Given the description of an element on the screen output the (x, y) to click on. 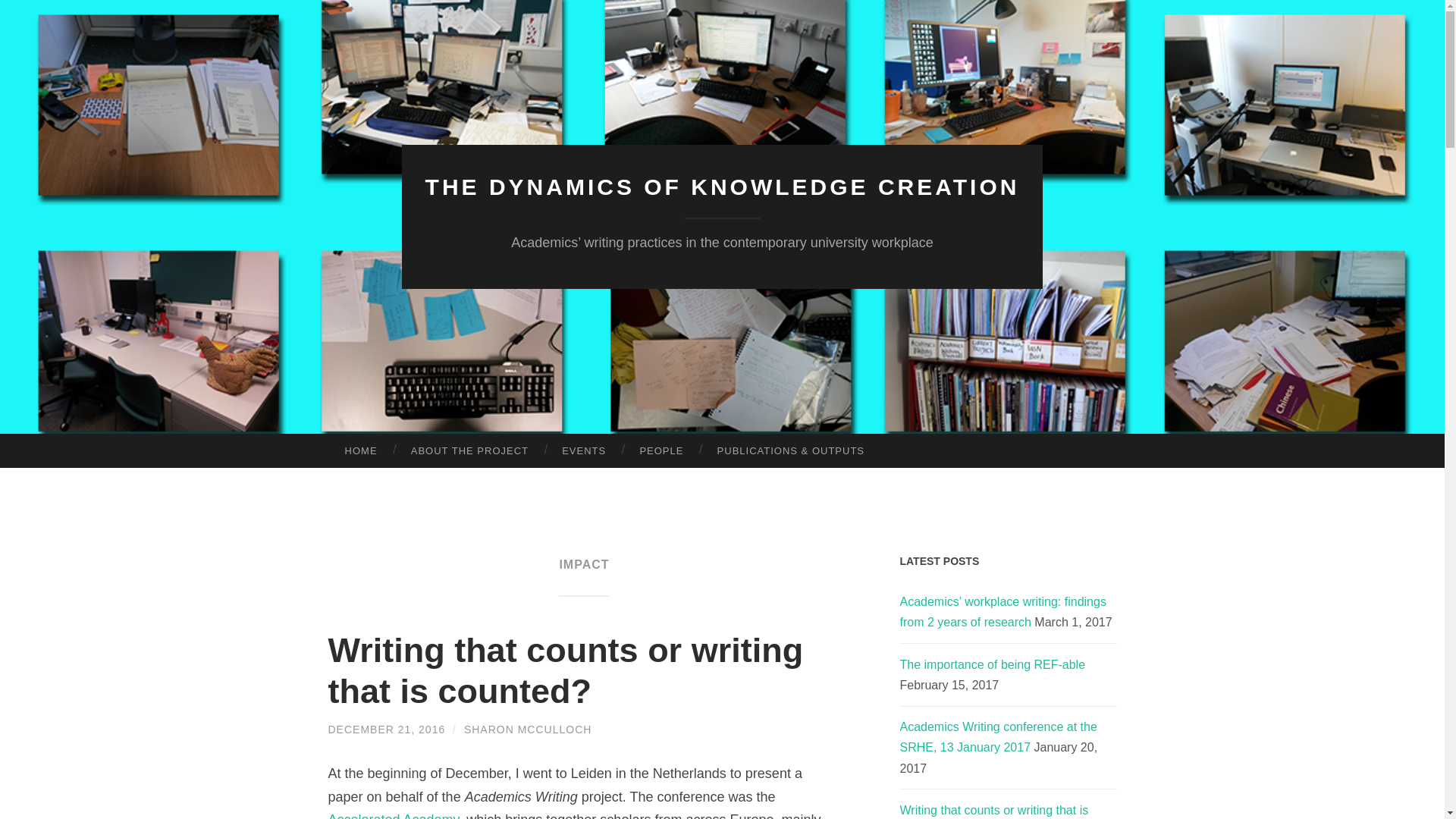
ABOUT THE PROJECT (469, 451)
The importance of being REF-able (991, 664)
HOME (360, 451)
PEOPLE (661, 451)
Writing that counts or writing that is counted? (993, 811)
THE DYNAMICS OF KNOWLEDGE CREATION (722, 186)
Writing that counts or writing that is counted? (565, 670)
Accelerated Academy (392, 815)
SKIP TO CONTENT (16, 445)
Academics Writing conference at the SRHE, 13 January 2017 (997, 736)
DECEMBER 21, 2016 (386, 729)
EVENTS (583, 451)
SHARON MCCULLOCH (527, 729)
